Given the description of an element on the screen output the (x, y) to click on. 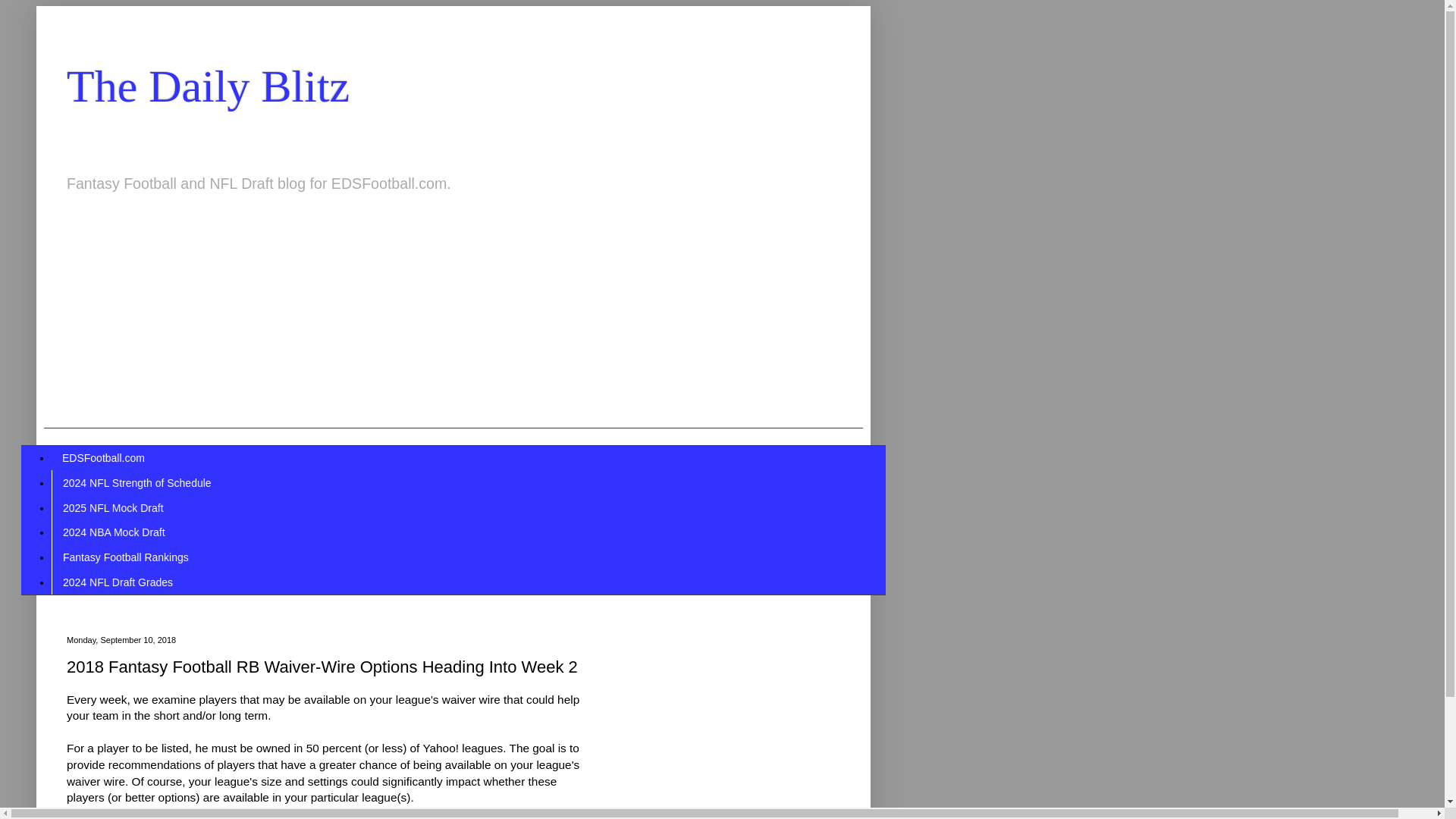
2024 NBA Mock Draft (113, 532)
2025 NFL Mock Draft (112, 507)
EDSFootball.com (102, 457)
Fantasy Football Rankings (124, 557)
The Daily Blitz (207, 86)
2024 NFL Draft Grades (116, 581)
2024 NFL Strength of Schedule (136, 482)
